Given the description of an element on the screen output the (x, y) to click on. 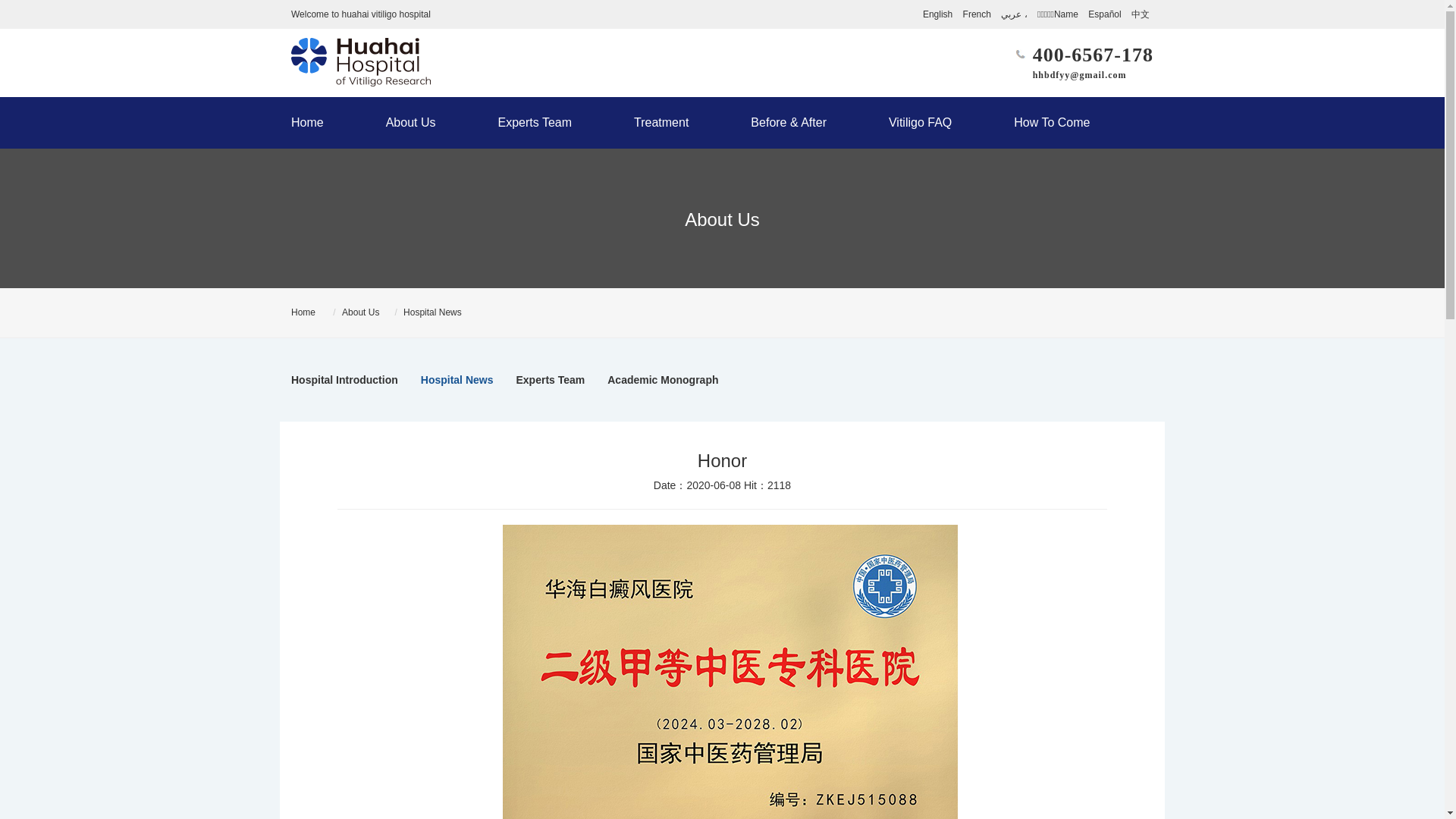
1704166266816333.jpg (729, 671)
Hospital Introduction (344, 379)
Home (323, 122)
Vitiligo FAQ (919, 122)
English (937, 14)
About Us (360, 312)
Hospital News (456, 379)
About Us (411, 122)
Academic Monograph (662, 379)
French (976, 14)
Experts Team (535, 122)
Experts Team (550, 379)
Hospital News (432, 312)
Treatment (660, 122)
How To Come (1035, 122)
